Given the description of an element on the screen output the (x, y) to click on. 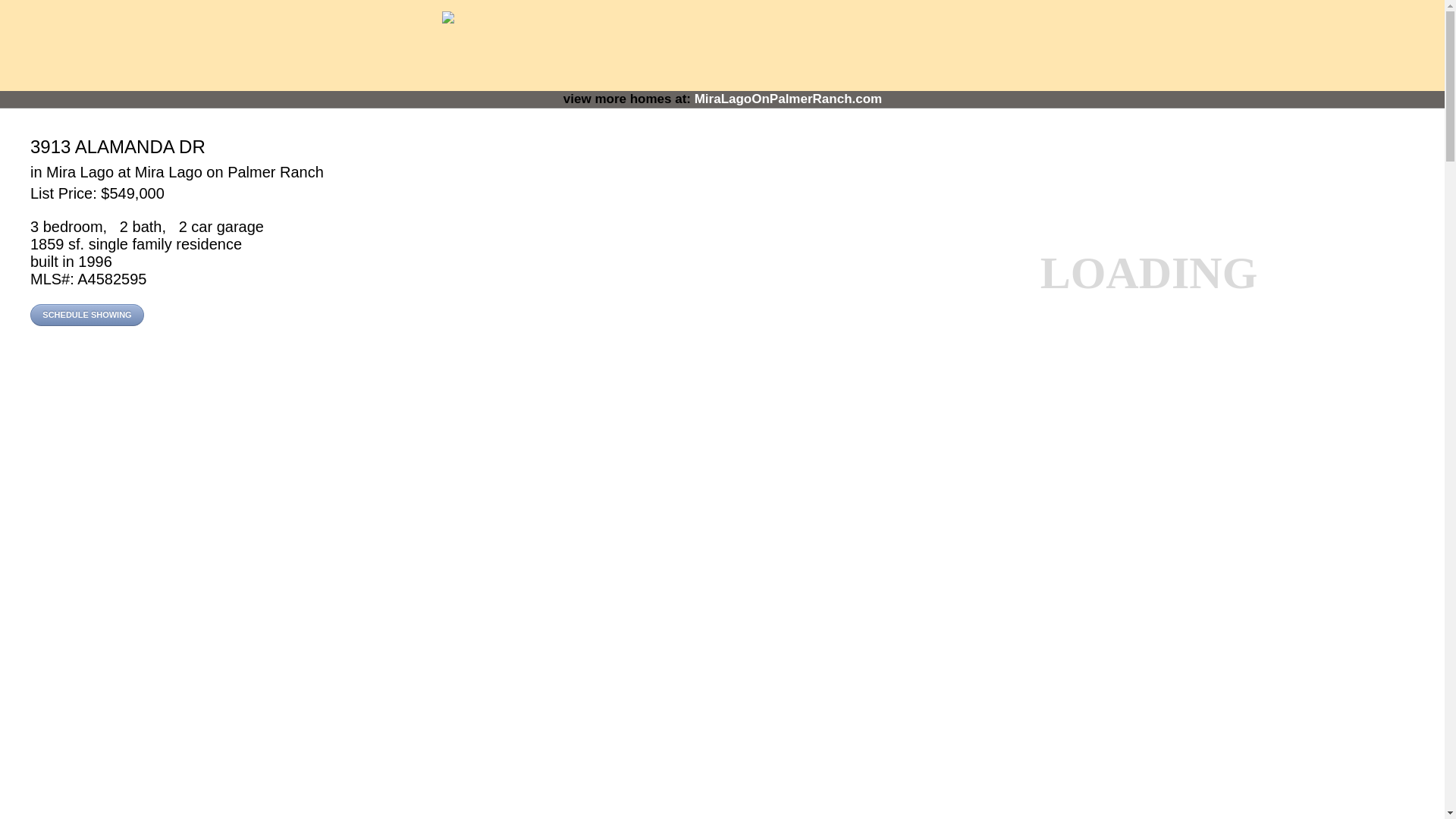
SCHEDULE SHOWING (87, 314)
view more homes at: MiraLagoOnPalmerRanch.com (722, 98)
